Given the description of an element on the screen output the (x, y) to click on. 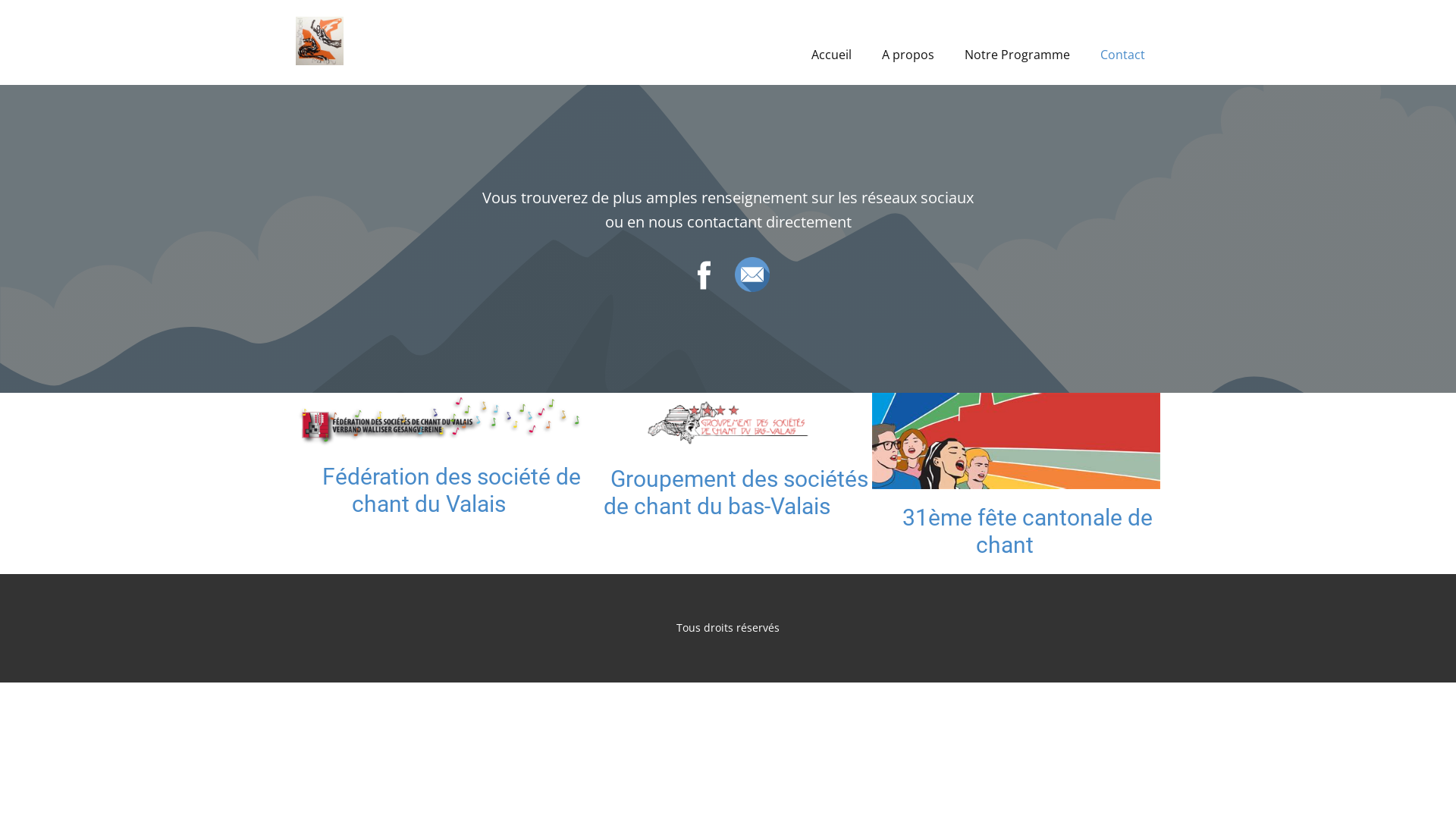
Email Element type: hover (751, 274)
Contact Element type: text (1122, 54)
Accueil Element type: text (831, 54)
Notre Programme Element type: text (1017, 54)
facebook Element type: hover (704, 274)
A propos Element type: text (907, 54)
